Given the description of an element on the screen output the (x, y) to click on. 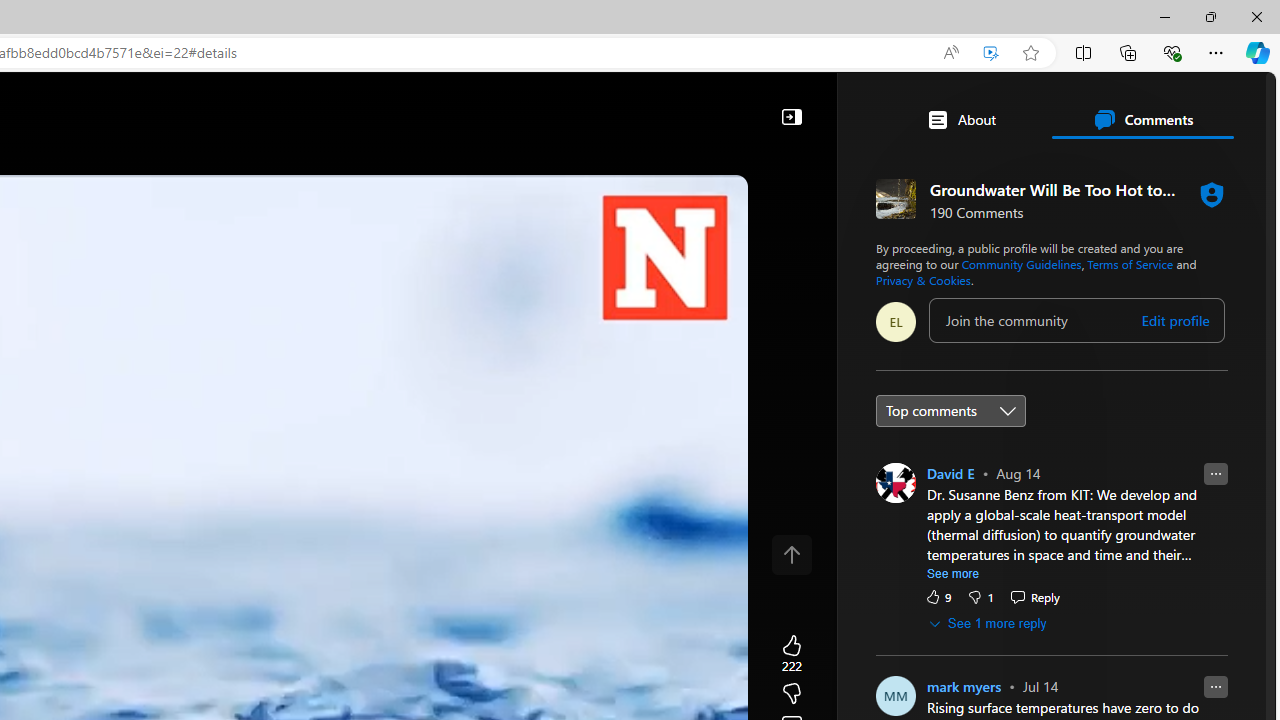
Collapse (791, 115)
222 Like (791, 653)
Ad (766, 439)
See more (953, 573)
To get missing image descriptions, open the context menu. (671, 162)
Enhance video (991, 53)
Personalize (711, 162)
Sort comments by (950, 410)
Terms of Service (1129, 264)
comment-box (1076, 320)
Edit profile (1174, 321)
